Given the description of an element on the screen output the (x, y) to click on. 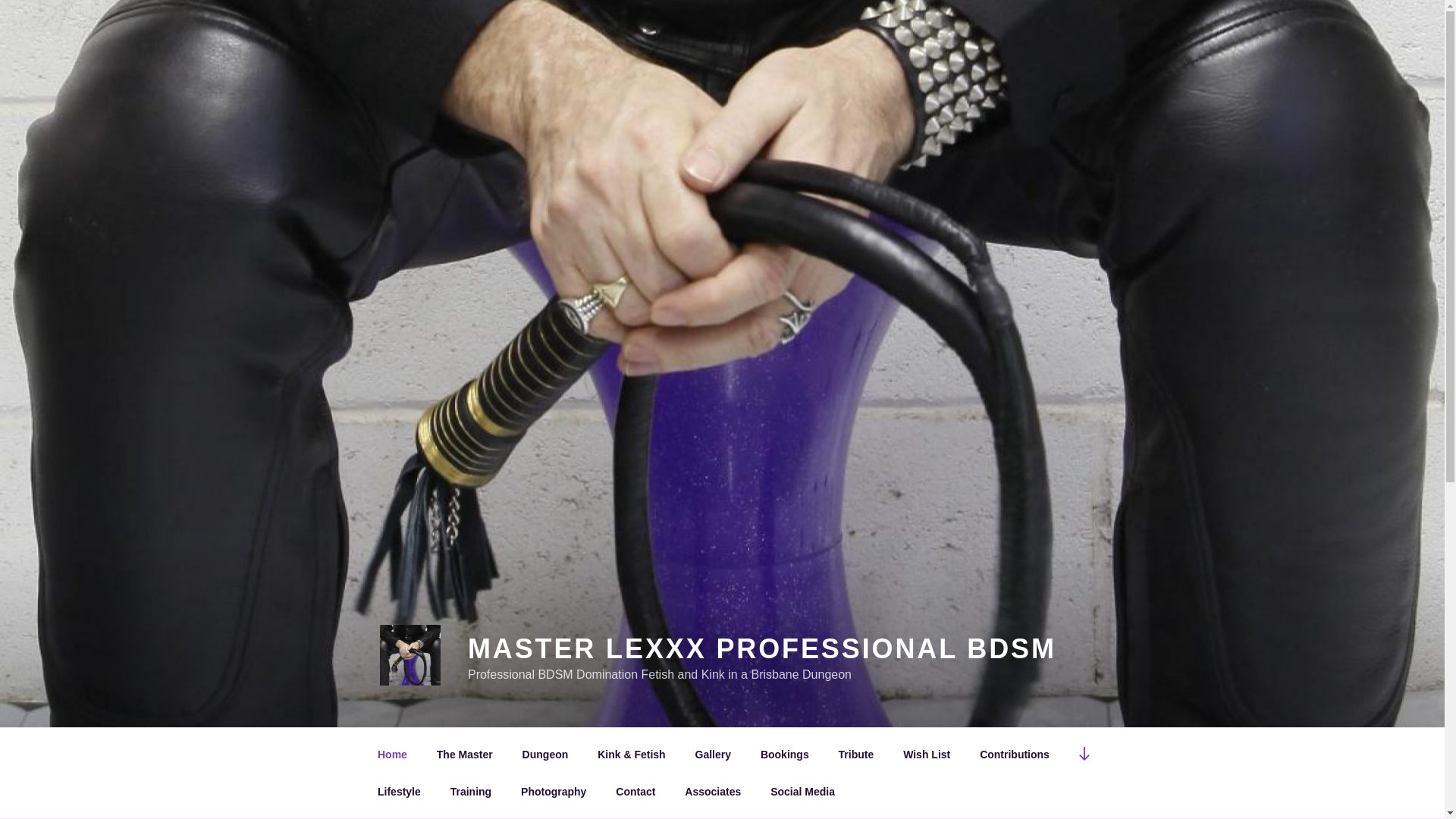
Bookings Element type: text (784, 753)
Training Element type: text (470, 791)
Kink & Fetish Element type: text (631, 753)
Tribute Element type: text (856, 753)
Contact Element type: text (635, 791)
Lifestyle Element type: text (398, 791)
Scroll down to content Element type: text (1083, 753)
Contributions Element type: text (1014, 753)
Dungeon Element type: text (544, 753)
MASTER LEXXX PROFESSIONAL BDSM Element type: text (761, 648)
Social Media Element type: text (802, 791)
The Master Element type: text (464, 753)
Associates Element type: text (712, 791)
Wish List Element type: text (926, 753)
Photography Element type: text (553, 791)
Gallery Element type: text (712, 753)
Home Element type: text (392, 753)
